Given the description of an element on the screen output the (x, y) to click on. 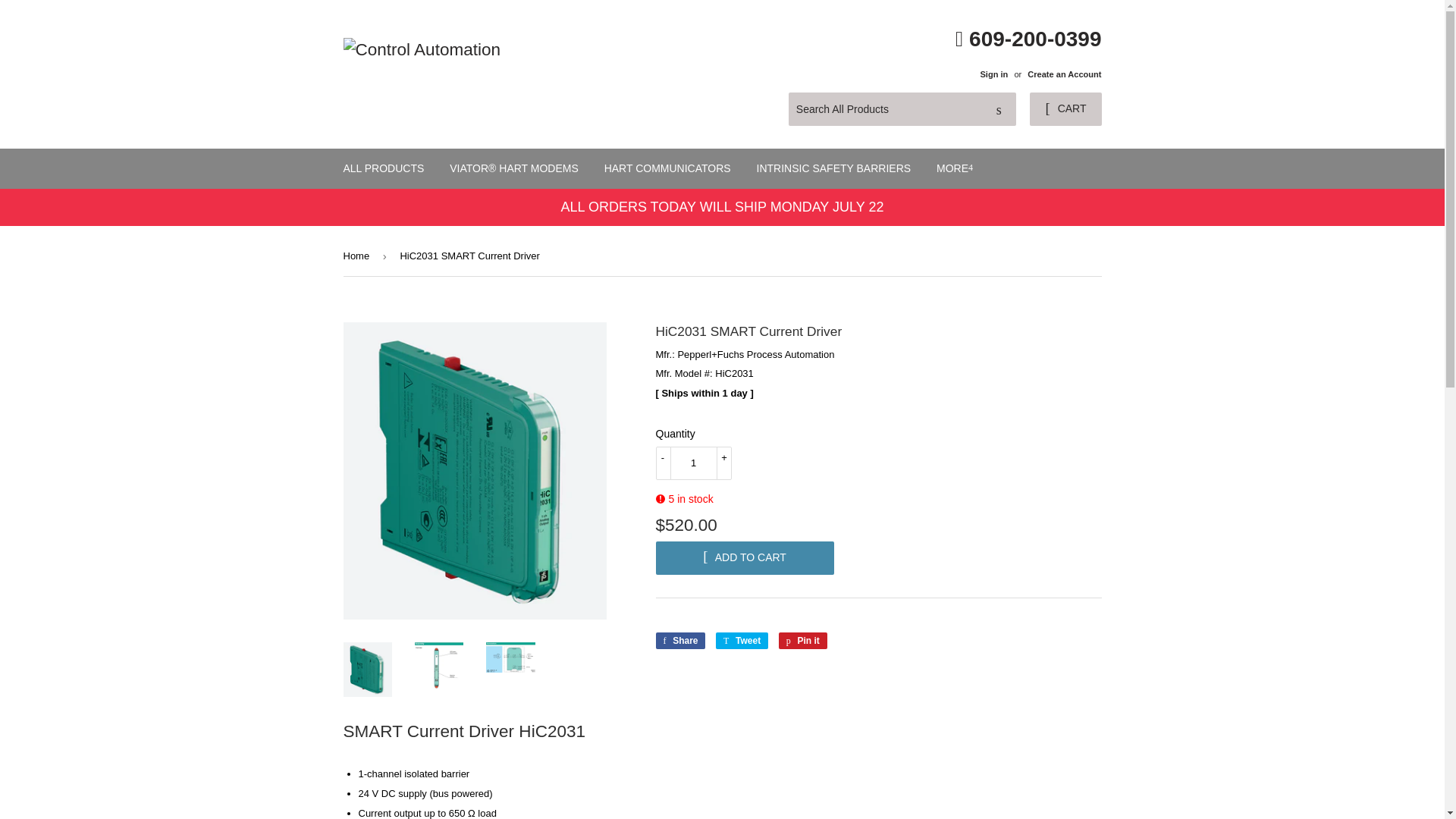
Pin on Pinterest (679, 640)
INTRINSIC SAFETY BARRIERS (742, 640)
ALL PRODUCTS (802, 640)
Share on Facebook (834, 168)
Tweet on Twitter (383, 168)
Search (679, 640)
ADD TO CART (802, 640)
CART (742, 640)
1 (998, 110)
MORE (743, 557)
HART COMMUNICATORS (1064, 109)
Create an Account (692, 462)
